Given the description of an element on the screen output the (x, y) to click on. 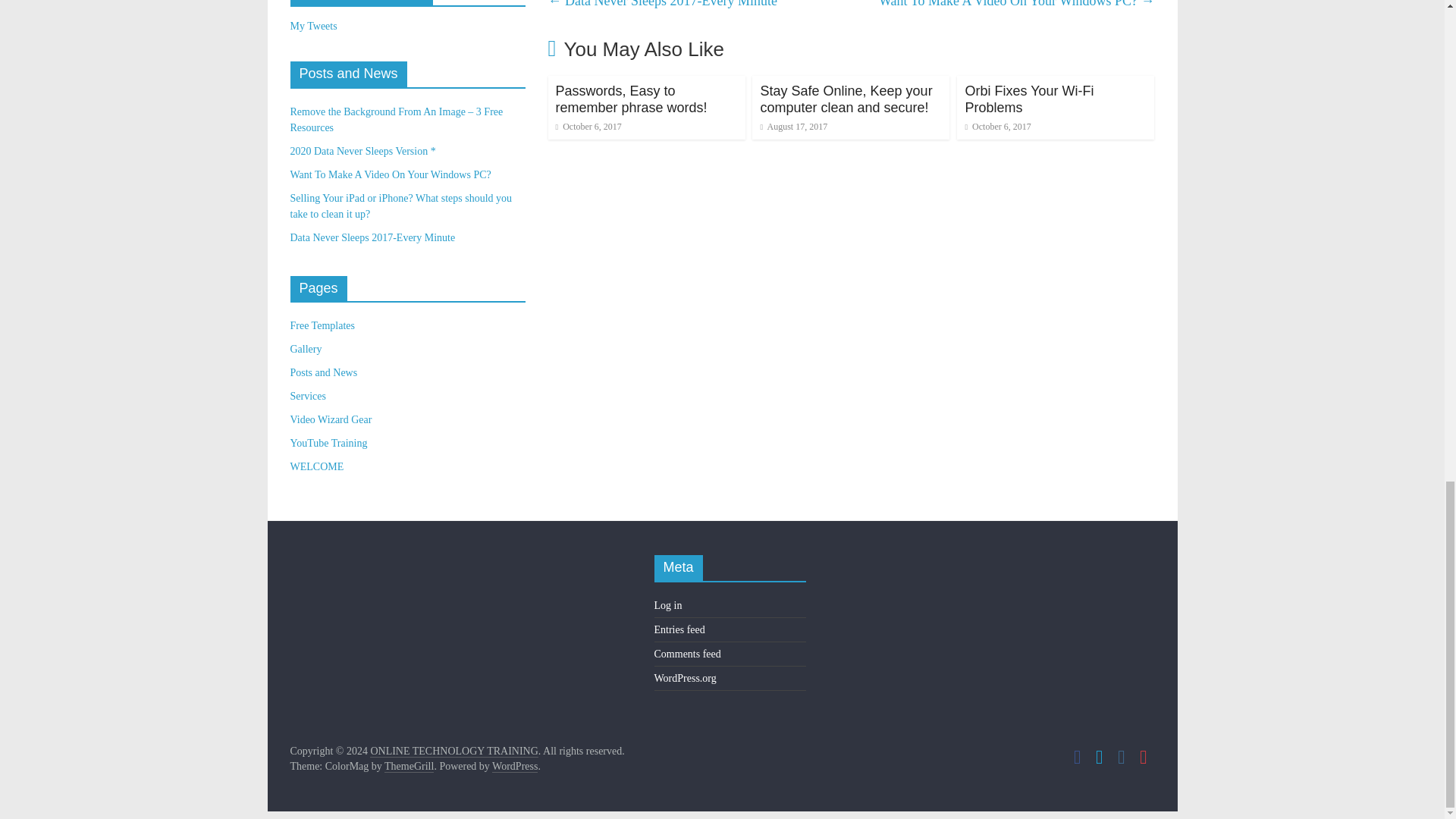
October 6, 2017 (588, 126)
1:28 pm (793, 126)
Orbi Fixes Your Wi-Fi Problems (1028, 99)
2:54 pm (996, 126)
Stay Safe Online, Keep your computer clean and secure! (845, 99)
Orbi Fixes Your Wi-Fi Problems (1028, 99)
Want To Make A Video On Your Windows PC? (389, 174)
6:30 pm (588, 126)
August 17, 2017 (793, 126)
Passwords, Easy to remember phrase words! (631, 99)
My Tweets (312, 25)
Stay Safe Online, Keep your computer clean and secure! (845, 99)
Passwords, Easy to remember phrase words! (631, 99)
October 6, 2017 (996, 126)
